Given the description of an element on the screen output the (x, y) to click on. 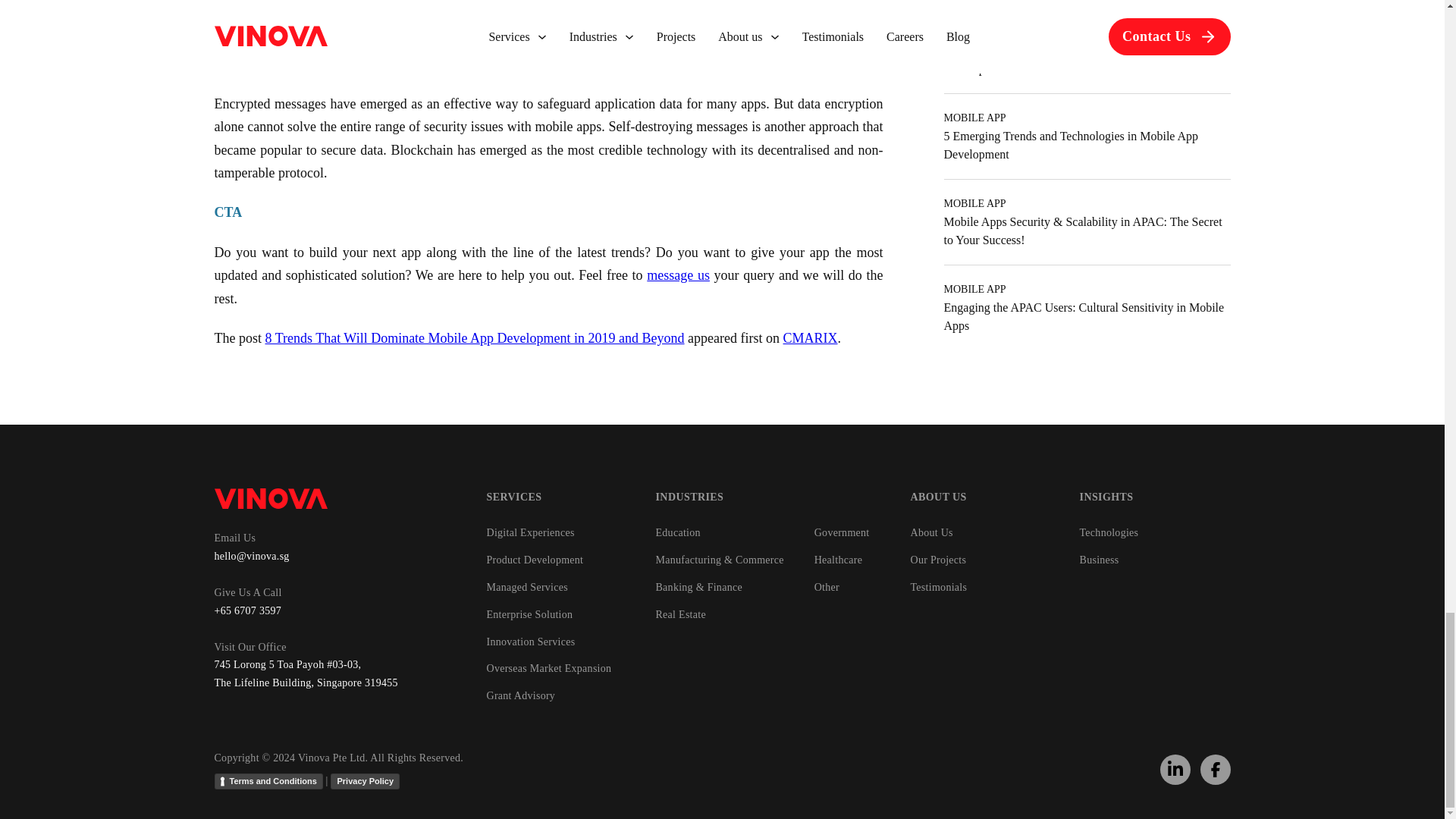
Facebook (1215, 769)
Terms and Conditions  (267, 781)
Linkedin (1174, 769)
Privacy Policy  (364, 781)
